Given the description of an element on the screen output the (x, y) to click on. 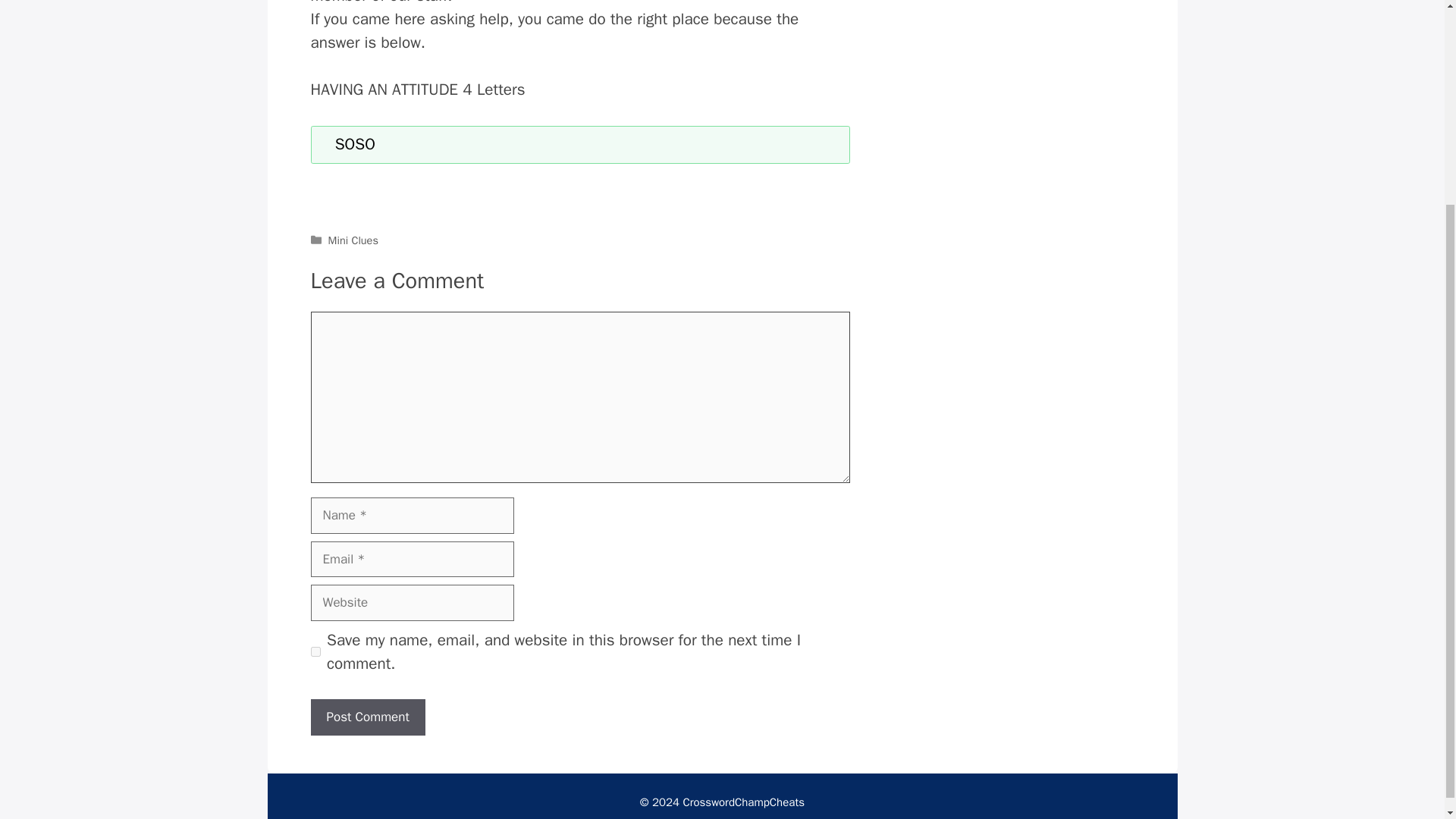
yes (315, 651)
Mini Clues (353, 240)
Post Comment (368, 717)
Post Comment (368, 717)
